Given the description of an element on the screen output the (x, y) to click on. 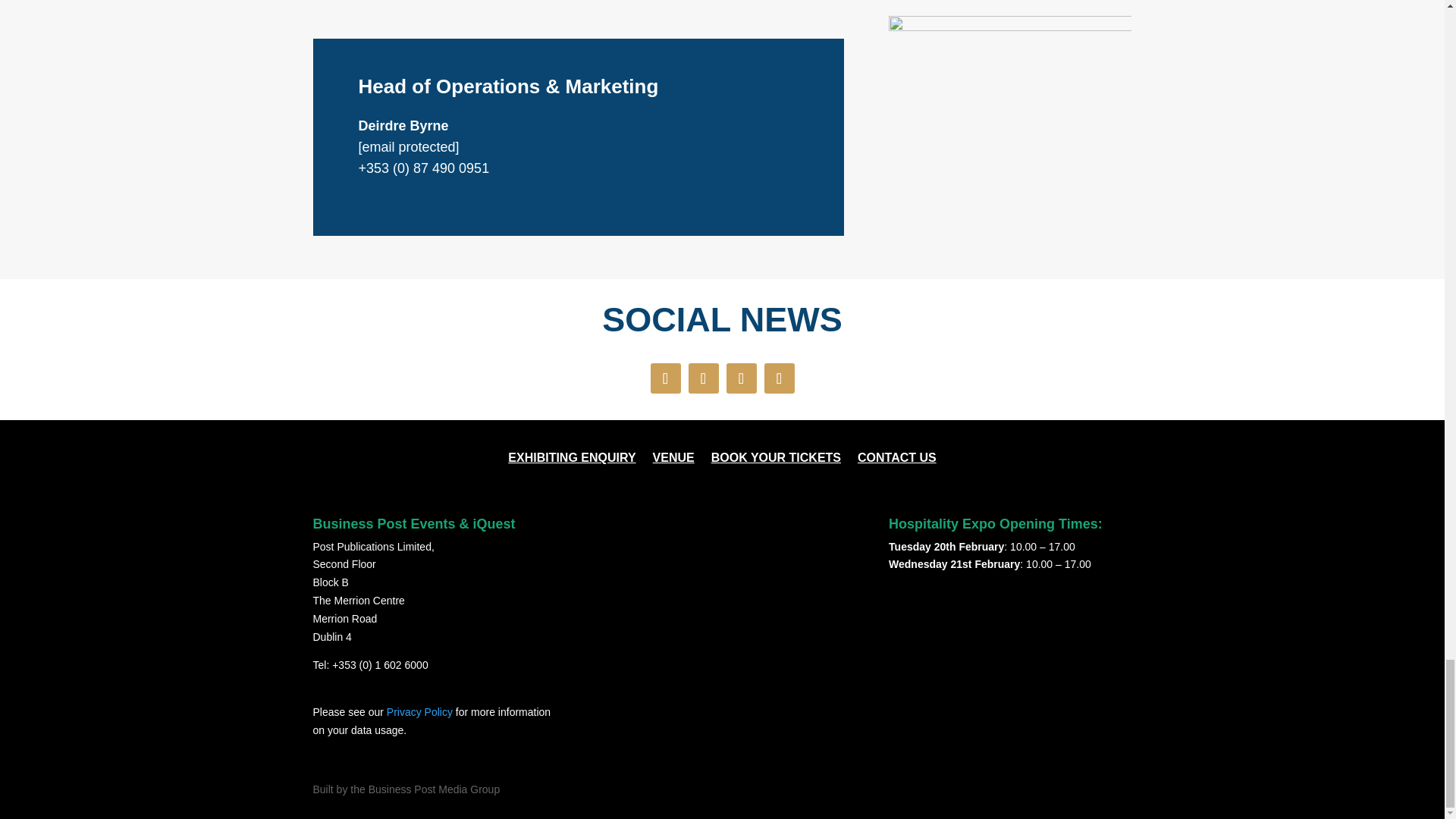
Follow on Facebook (665, 378)
Screenshot 2023-11-23 123314 (1009, 136)
CONTACT US (896, 460)
Privacy Policy (419, 711)
Follow on X (703, 378)
EXHIBITING ENQUIRY (571, 460)
VENUE (673, 460)
Follow on LinkedIn (779, 378)
Follow on Instagram (741, 378)
BOOK YOUR TICKETS (776, 460)
